Given the description of an element on the screen output the (x, y) to click on. 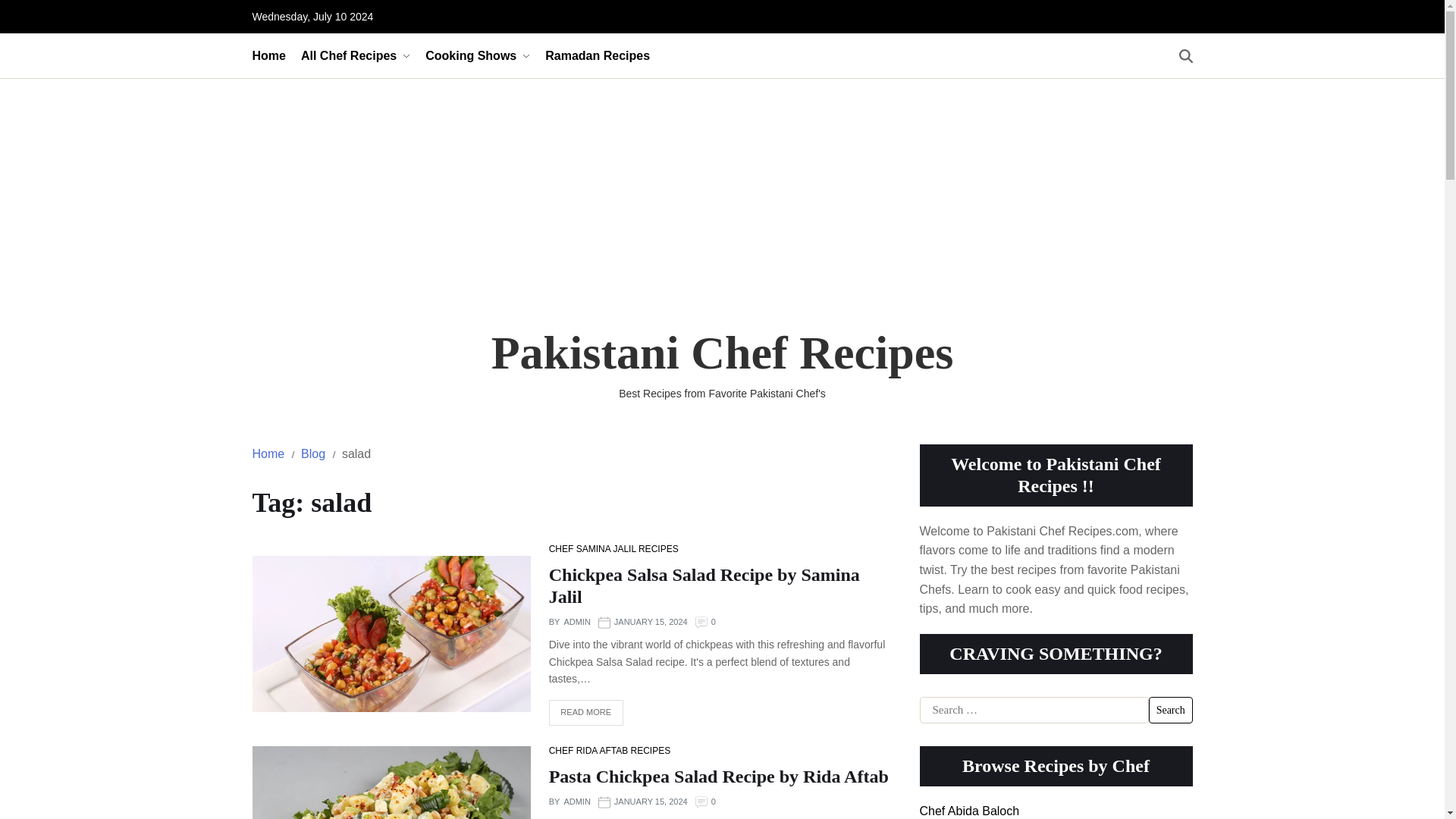
READ MORE (585, 712)
CHEF RIDA AFTAB RECIPES (608, 750)
All Chef Recipes (355, 55)
ADMIN (576, 802)
Pasta Chickpea Salad Recipe by Rida Aftab (718, 776)
Search (1170, 709)
Cooking Shows (477, 55)
CHEF SAMINA JALIL RECIPES (613, 549)
0 (713, 622)
Pakistani Chef Recipes (722, 352)
Blog (312, 453)
Home (267, 453)
Search (1170, 709)
Chickpea Salsa Salad Recipe by Samina Jalil (704, 585)
